Given the description of an element on the screen output the (x, y) to click on. 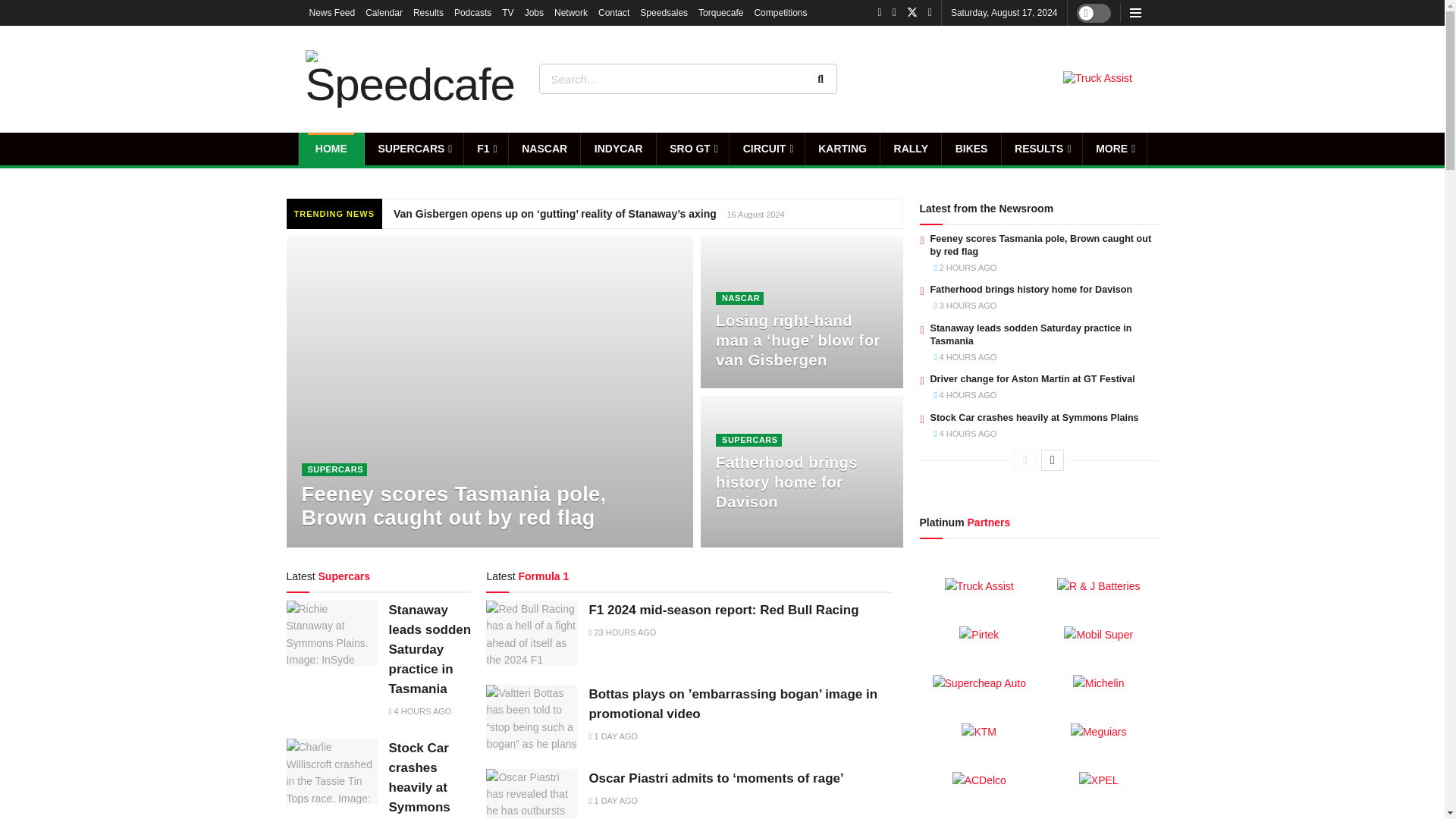
News Feed (331, 12)
Podcasts (473, 12)
Competitions (780, 12)
F1 (486, 148)
Results (428, 12)
Speedsales (663, 12)
Network (571, 12)
HOME (330, 148)
SUPERCARS (414, 148)
Contact (613, 12)
